Given the description of an element on the screen output the (x, y) to click on. 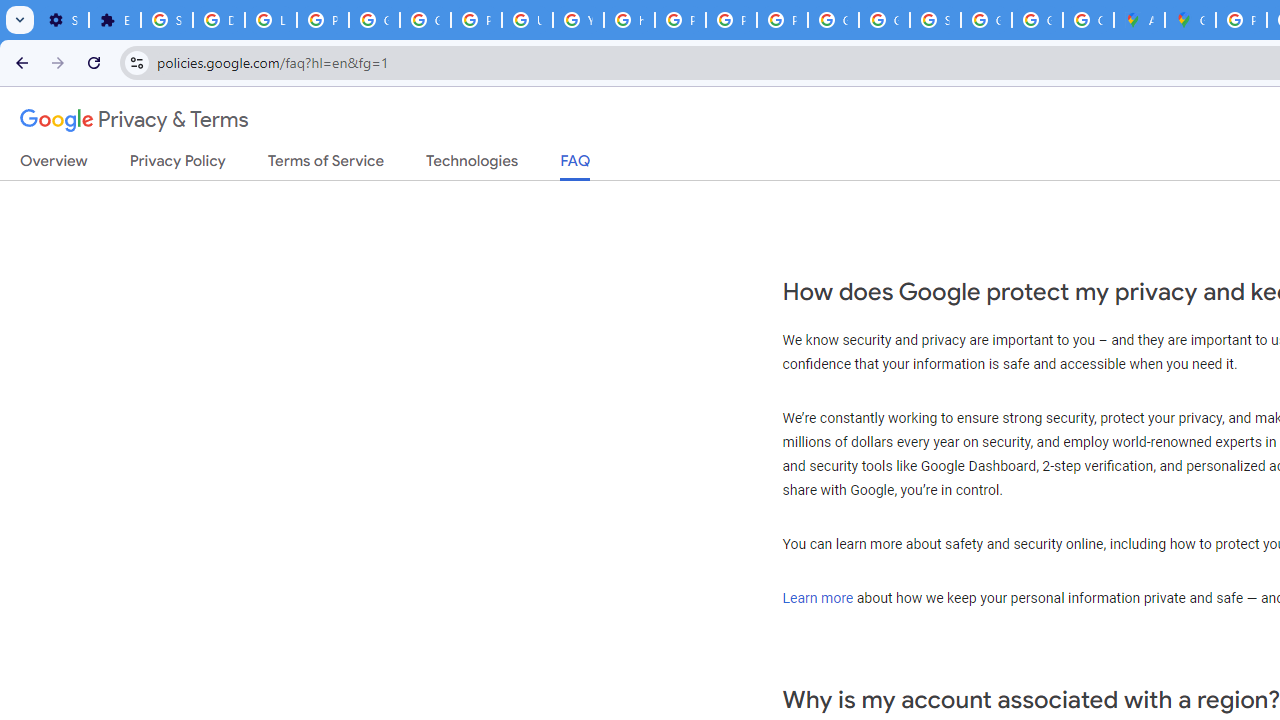
YouTube (578, 20)
Privacy Help Center - Policies Help (680, 20)
Sign in - Google Accounts (935, 20)
Google Account Help (374, 20)
